Given the description of an element on the screen output the (x, y) to click on. 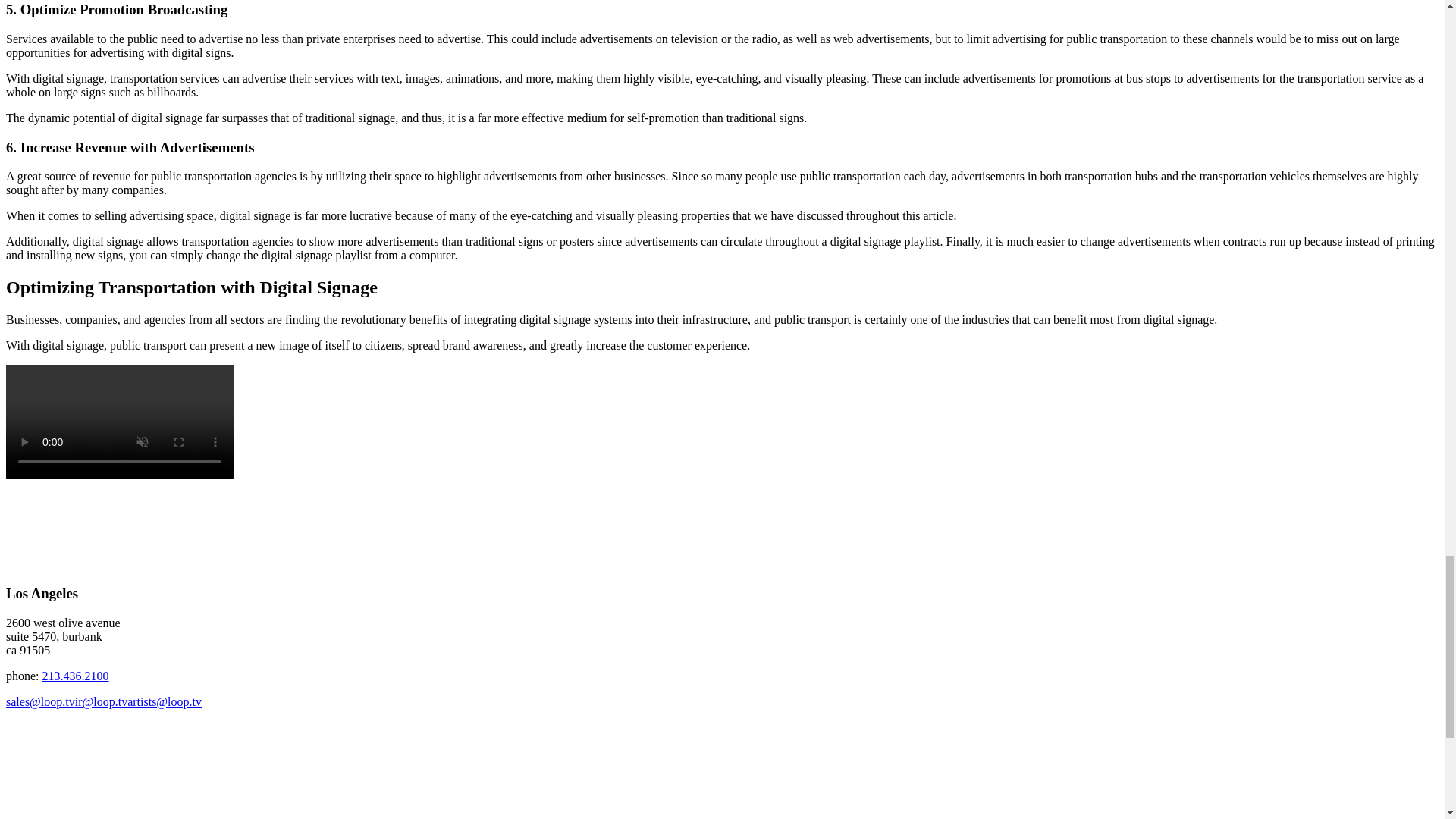
213.436.2100 (75, 675)
